Given the description of an element on the screen output the (x, y) to click on. 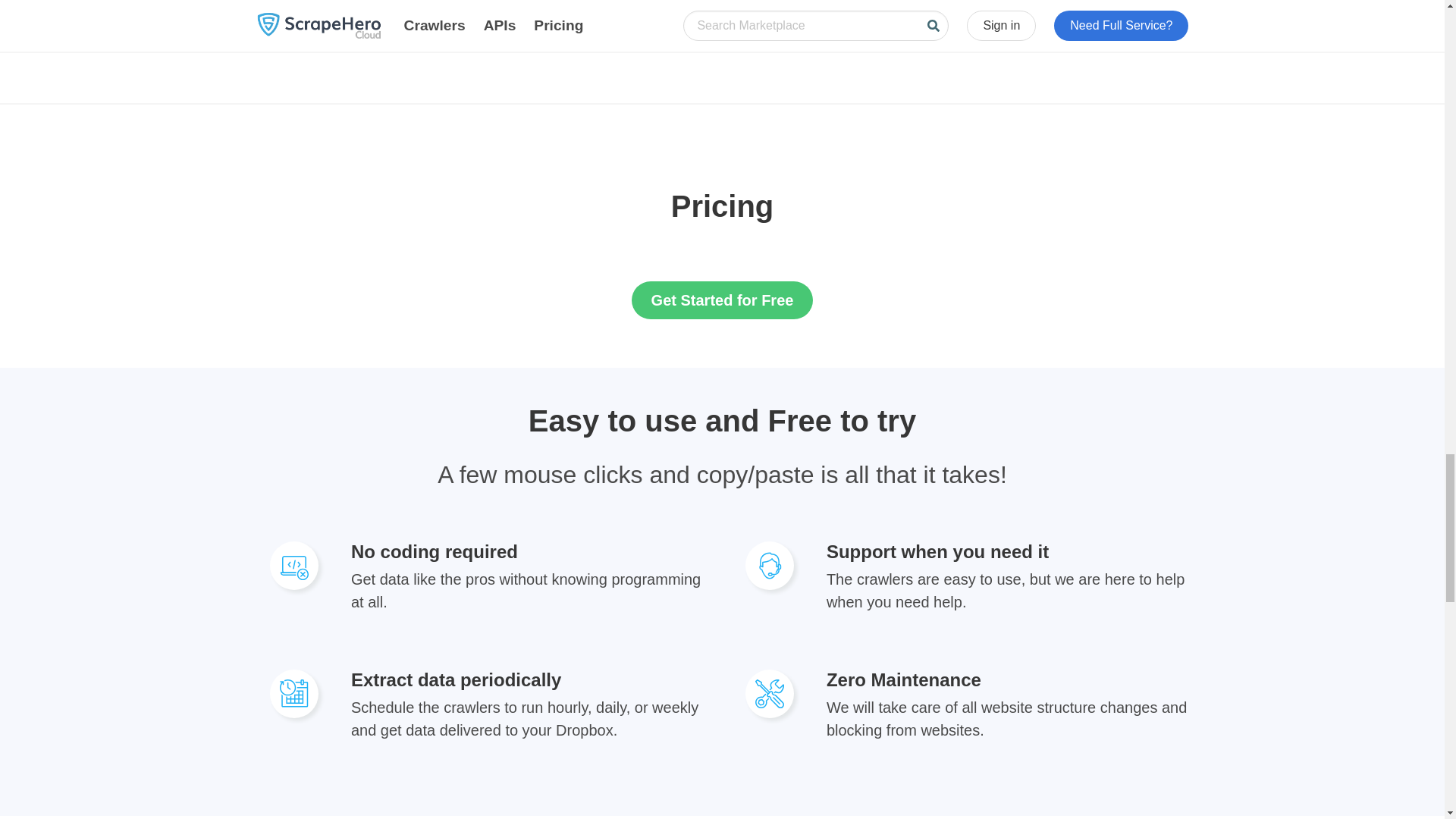
Get Started for Free (722, 300)
Extract Data periodically and upload to Dropbox Folder (293, 693)
No Maintenance Crawlers (769, 693)
Scrape without complex software or programming knowledge (293, 565)
